Given the description of an element on the screen output the (x, y) to click on. 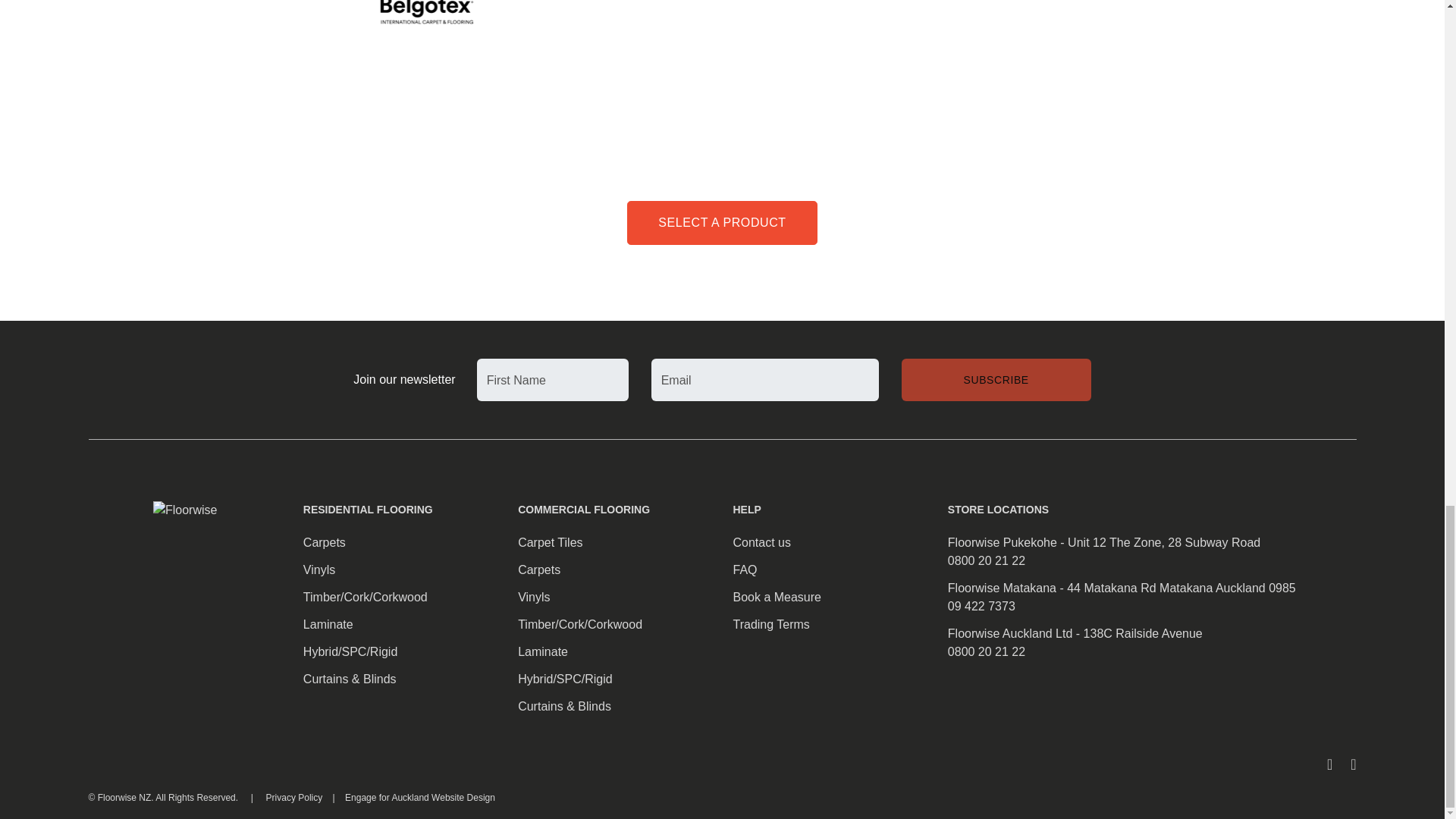
Subscribe (995, 379)
